Given the description of an element on the screen output the (x, y) to click on. 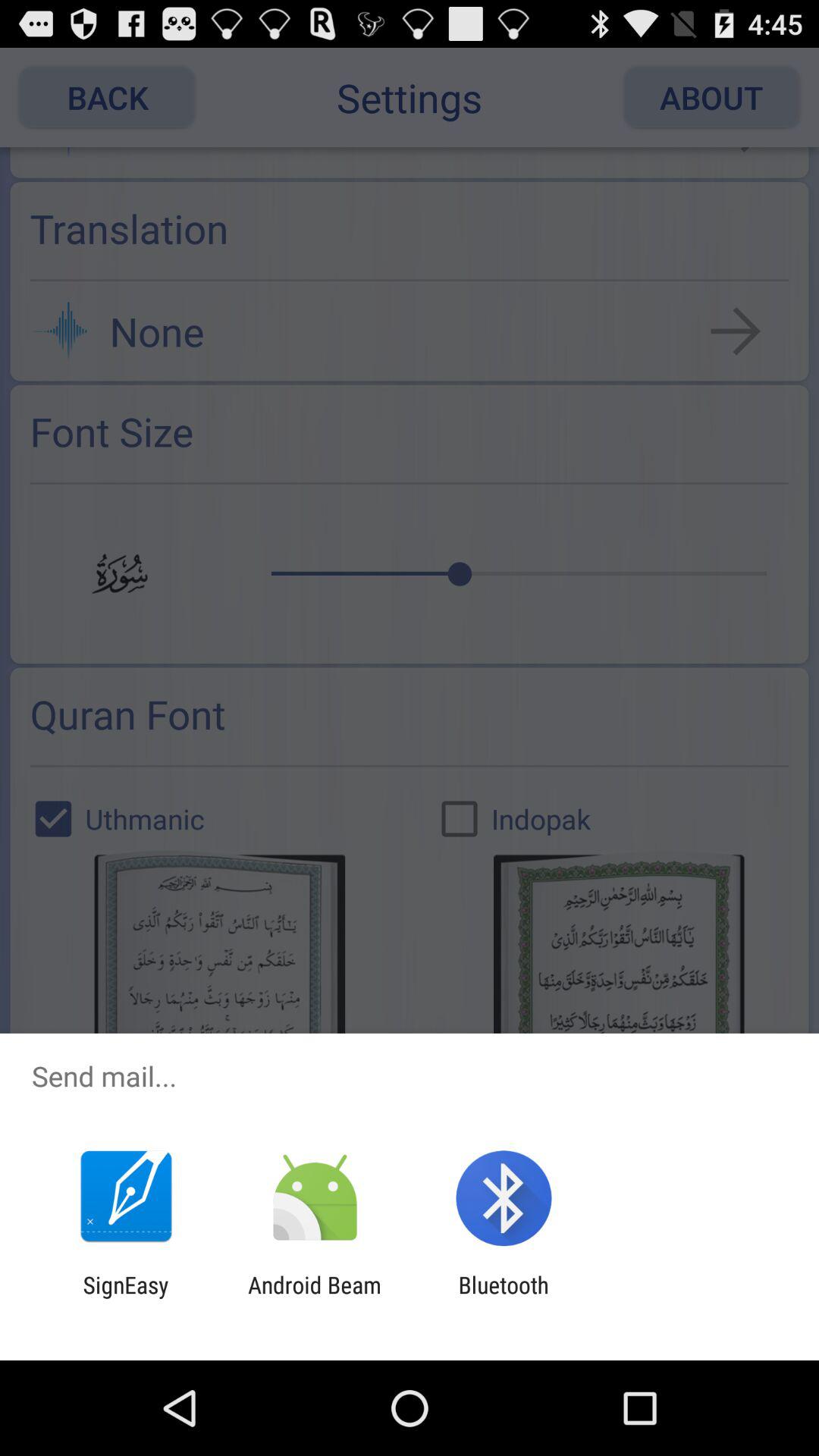
tap icon to the left of android beam (125, 1298)
